Given the description of an element on the screen output the (x, y) to click on. 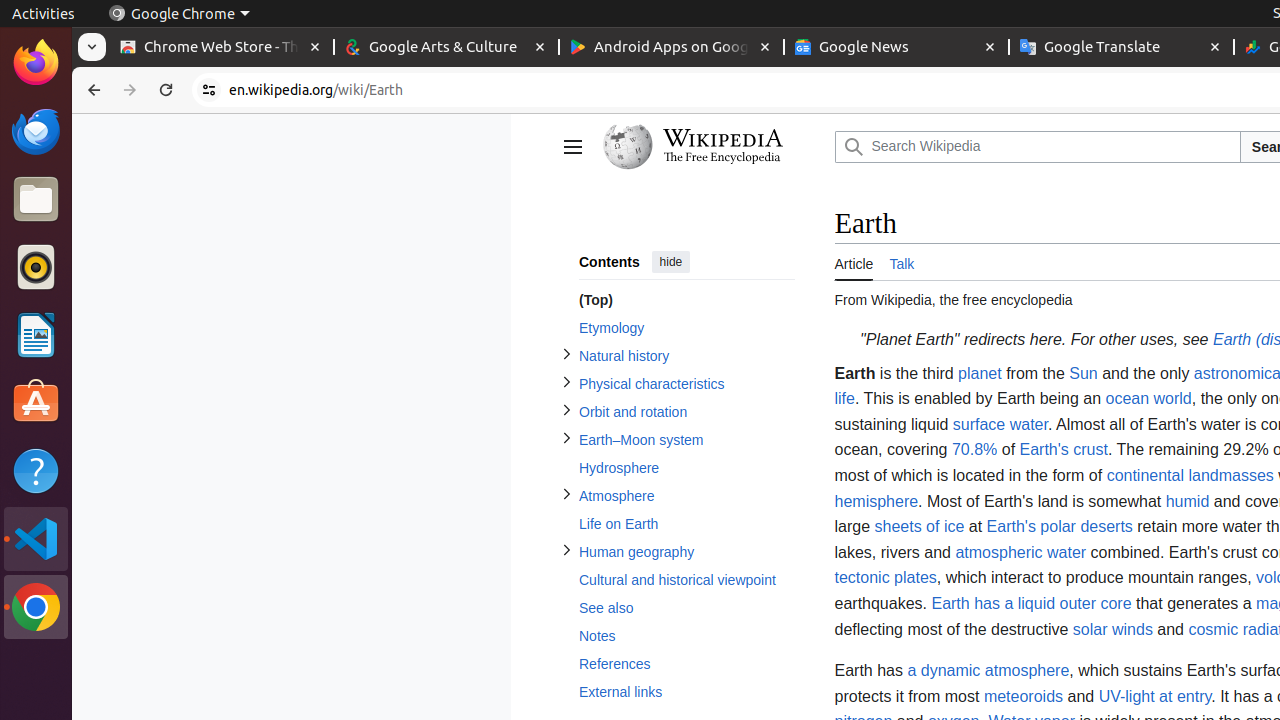
Etymology Element type: link (686, 328)
UV-light at entry Element type: link (1155, 696)
Forward Element type: push-button (130, 90)
Atmosphere Element type: link (686, 496)
Google News - Memory usage - 55.3 MB Element type: page-tab (896, 47)
